Given the description of an element on the screen output the (x, y) to click on. 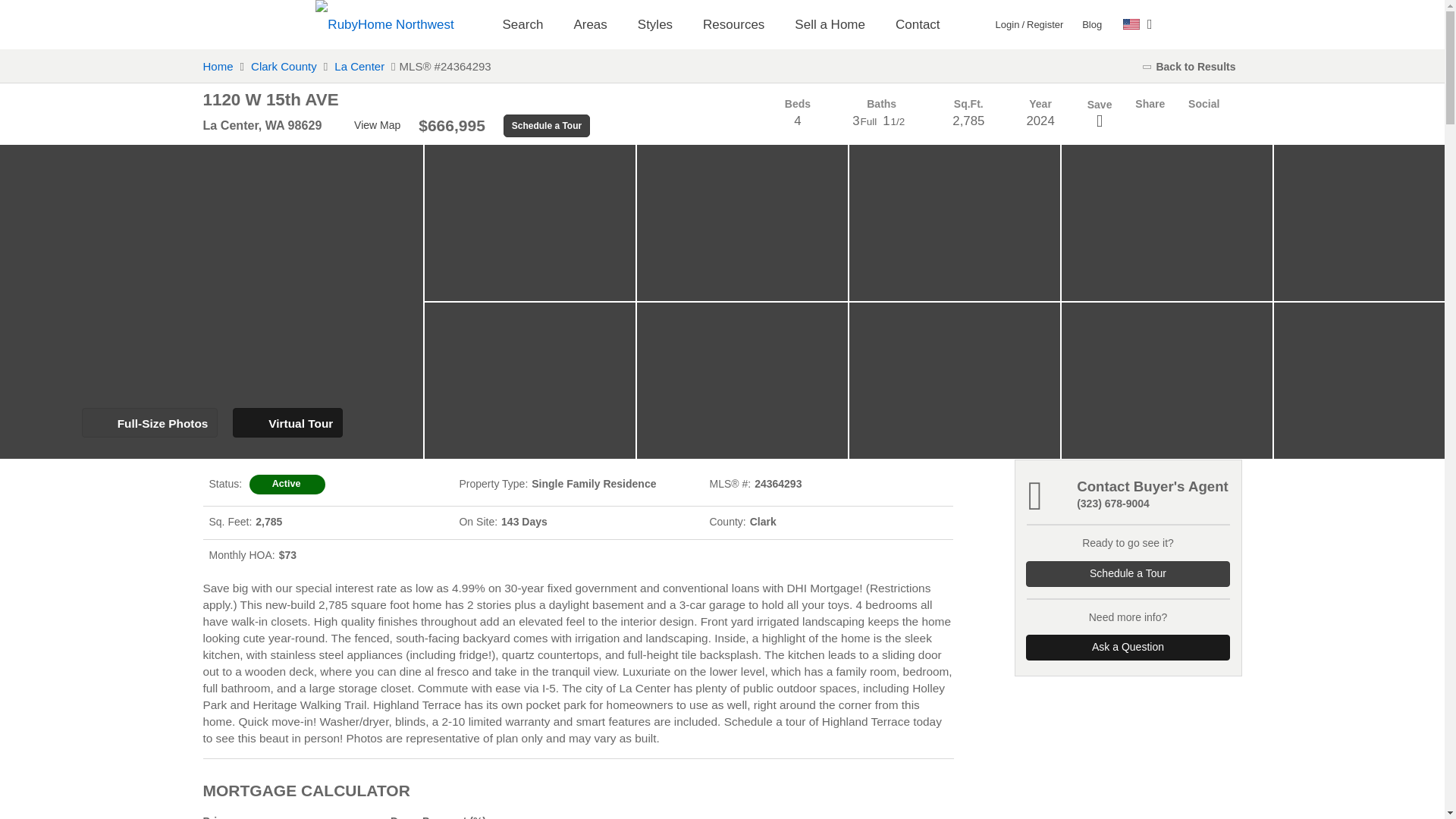
Contact (917, 24)
View Map (369, 125)
Select Language (1137, 24)
Sell a Home (829, 24)
Resources (732, 24)
Search (521, 24)
Areas (589, 24)
Styles (655, 24)
